Given the description of an element on the screen output the (x, y) to click on. 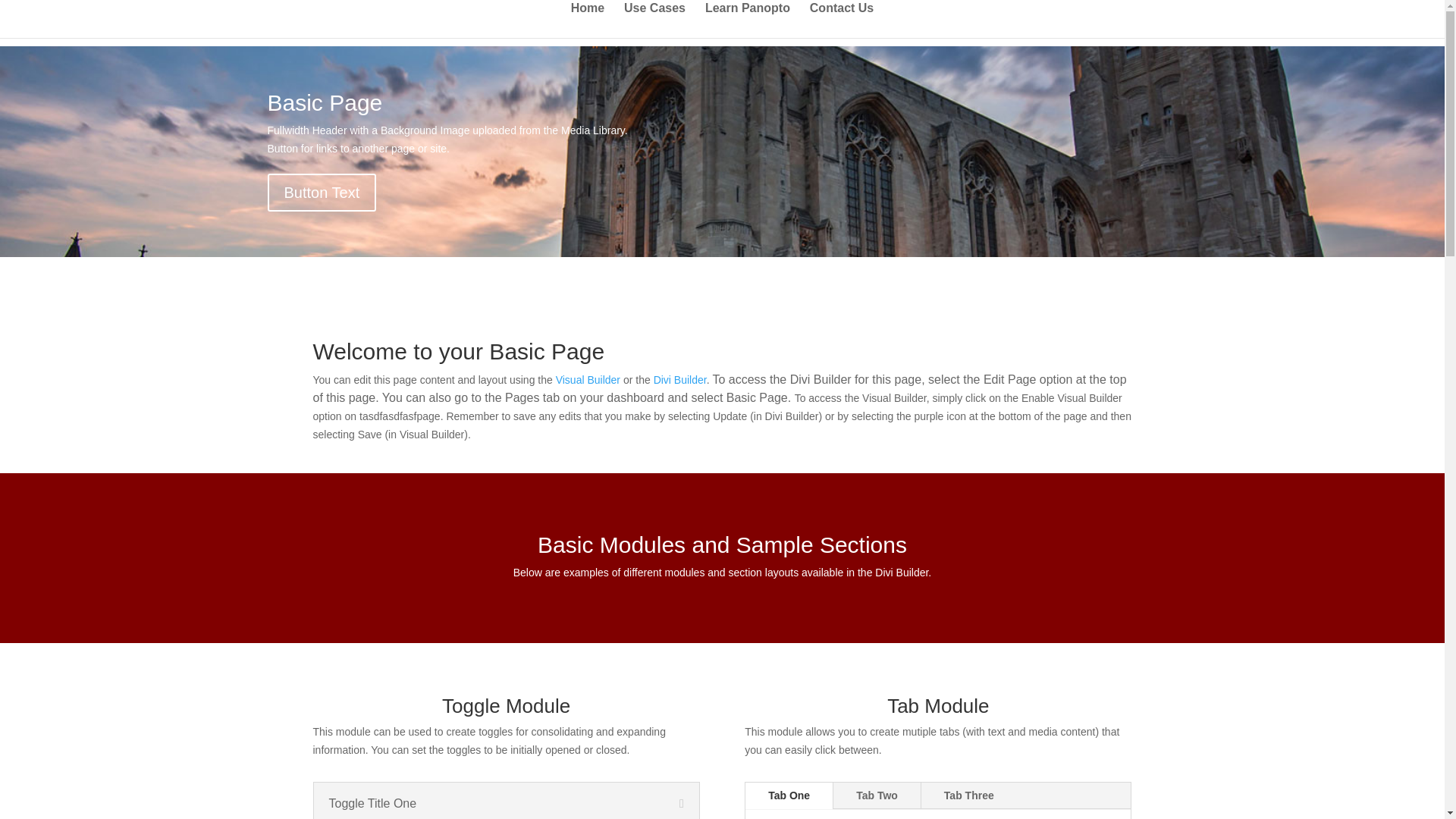
Button Text (320, 192)
Use Cases (654, 20)
Tab One (788, 795)
Visual Builder (588, 379)
Home (587, 20)
Contact Us (841, 20)
Learn Panopto (747, 20)
Tab Three (968, 795)
Tab Two (876, 795)
Divi Builder (679, 379)
